Given the description of an element on the screen output the (x, y) to click on. 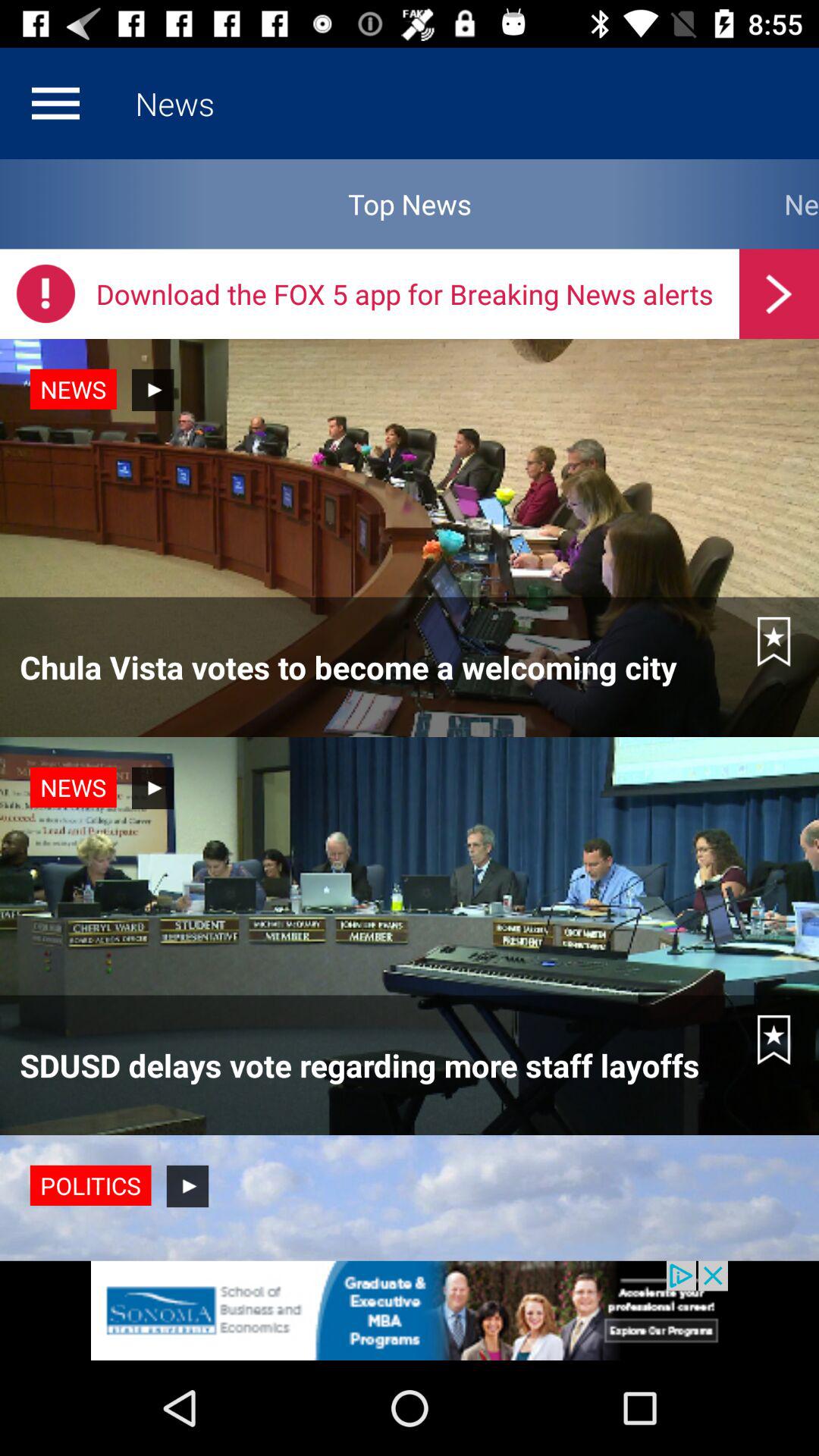
open menu (55, 103)
